Given the description of an element on the screen output the (x, y) to click on. 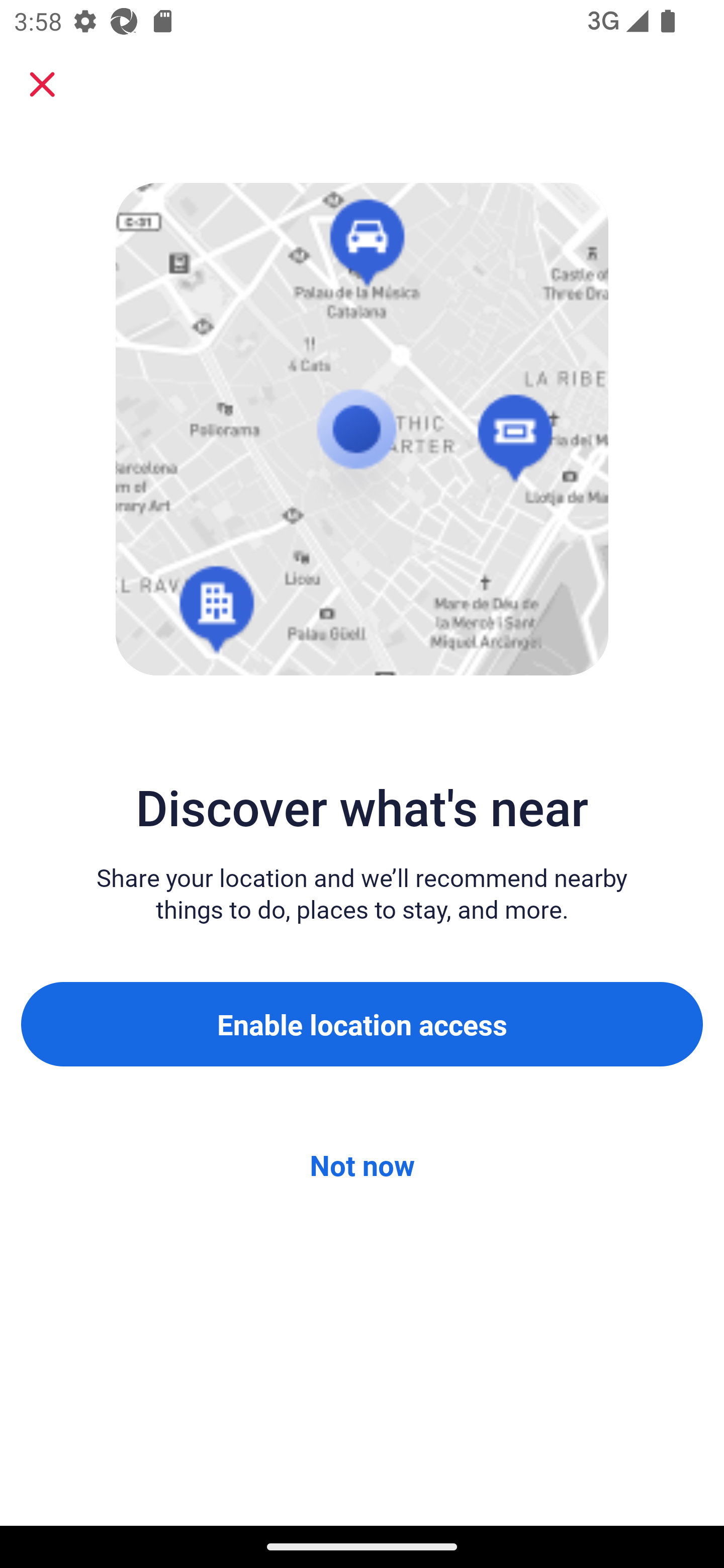
Close sheet (42, 84)
Enable location access (361, 1023)
Not now (362, 1164)
